Given the description of an element on the screen output the (x, y) to click on. 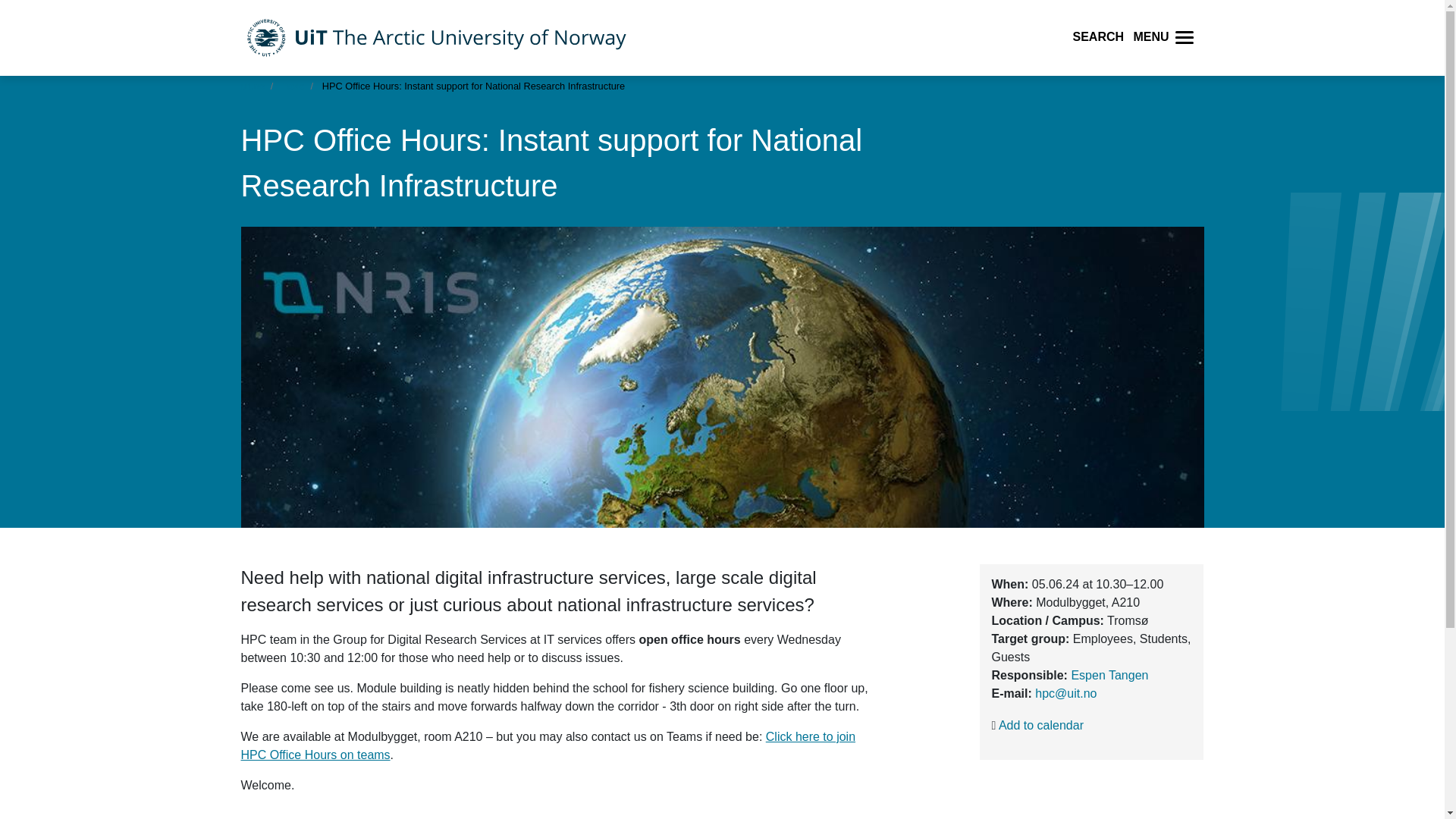
Skip to main content (7, 82)
UiT The Arctic University of Norway (436, 38)
Search (1109, 38)
Menu (1185, 38)
